Given the description of an element on the screen output the (x, y) to click on. 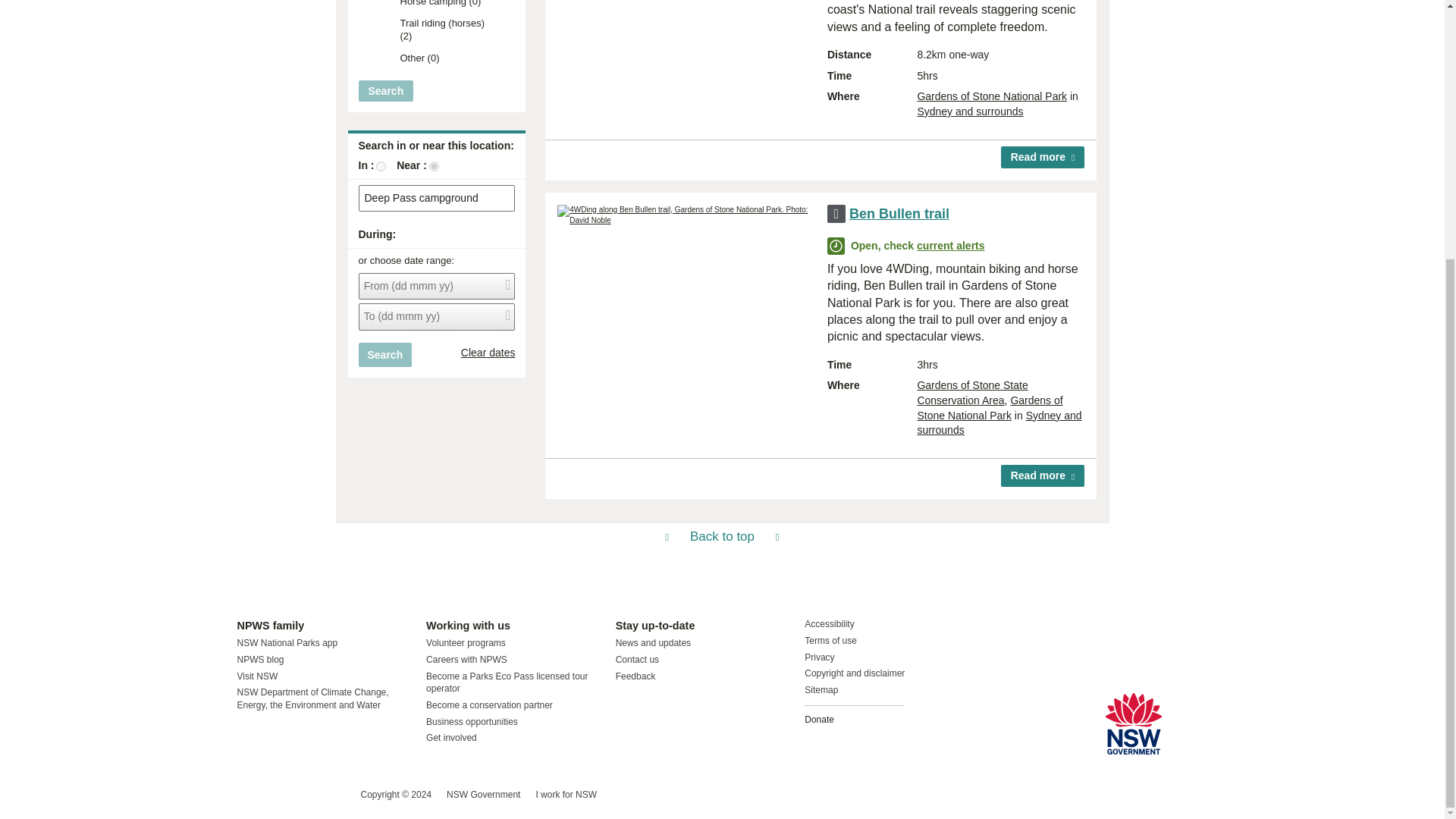
Deep Pass campground (436, 198)
Search (385, 354)
Visit NSW National Parks on Instagram (283, 795)
In (380, 166)
Visit NSW National Parks on Youtube (315, 795)
Around (434, 166)
Visit NSW National Parks on Facebook (249, 795)
New South Wales Government (1133, 723)
